Given the description of an element on the screen output the (x, y) to click on. 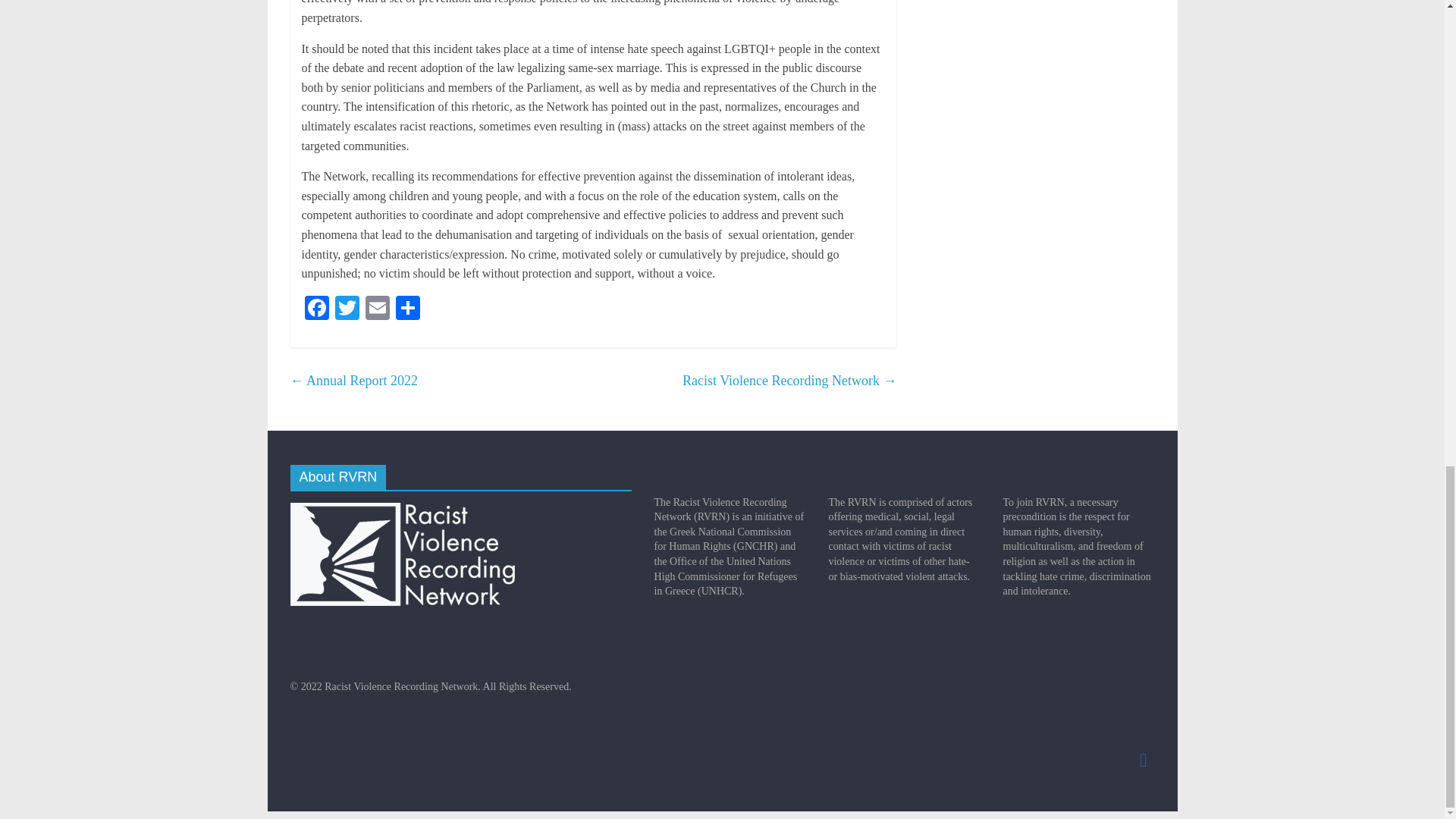
Facebook (316, 309)
Email (377, 309)
Facebook (316, 309)
Twitter (346, 309)
Twitter (346, 309)
Email (377, 309)
